Given the description of an element on the screen output the (x, y) to click on. 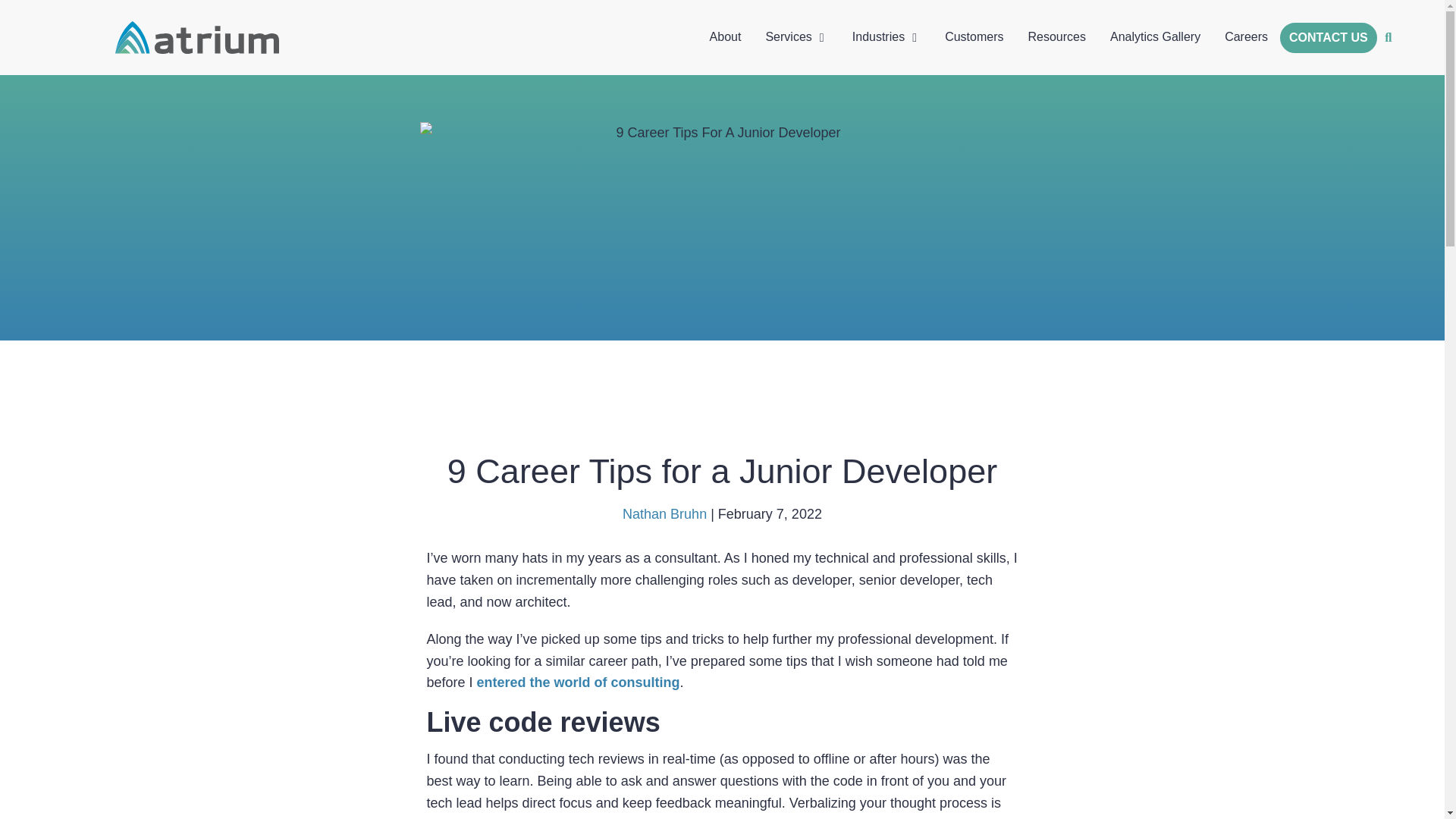
About (725, 37)
Services (787, 37)
Nathan Bruhn (664, 513)
